Given the description of an element on the screen output the (x, y) to click on. 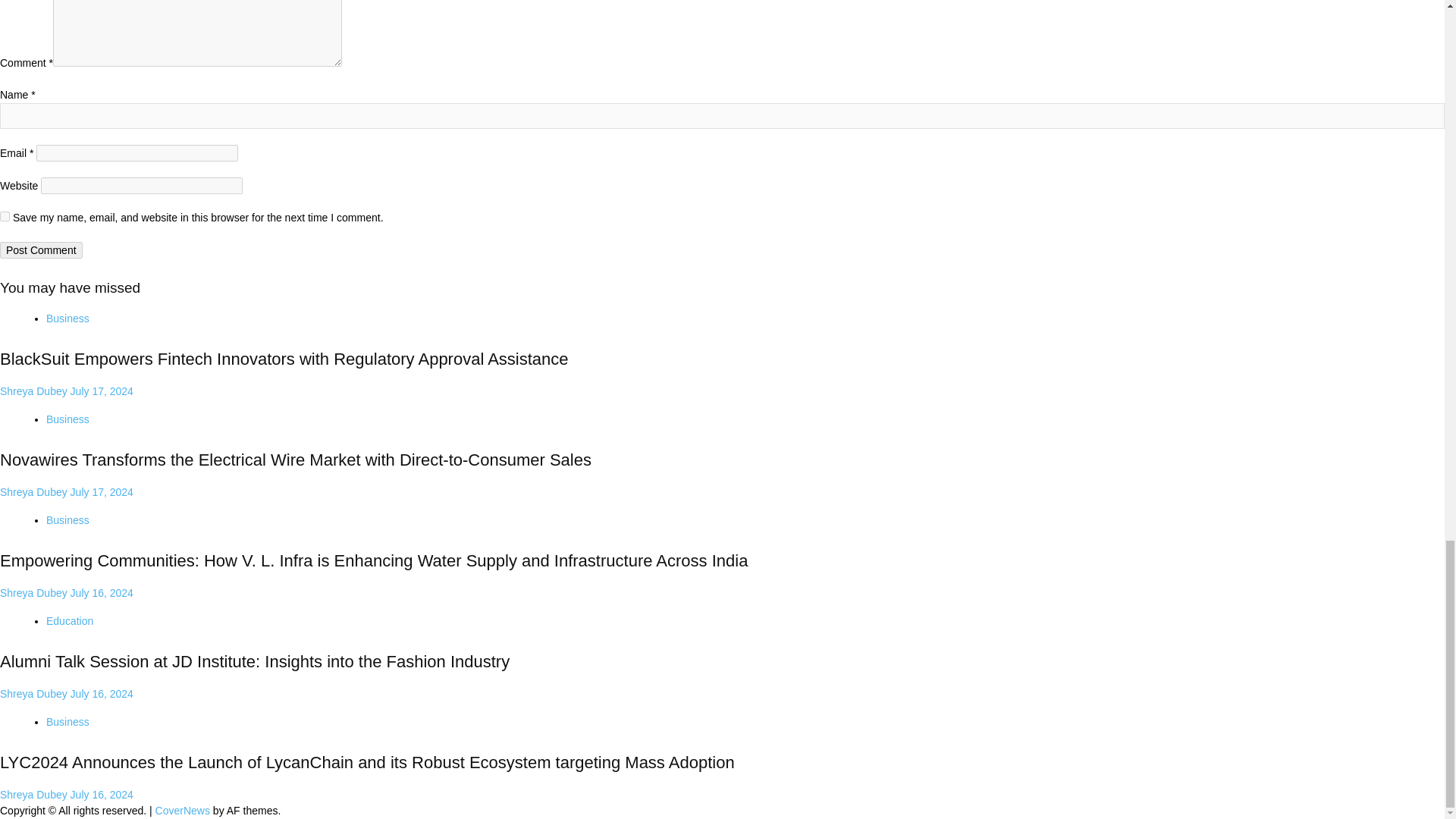
yes (5, 216)
Post Comment (41, 249)
Shreya Dubey (34, 390)
Business (67, 318)
Post Comment (41, 249)
